Given the description of an element on the screen output the (x, y) to click on. 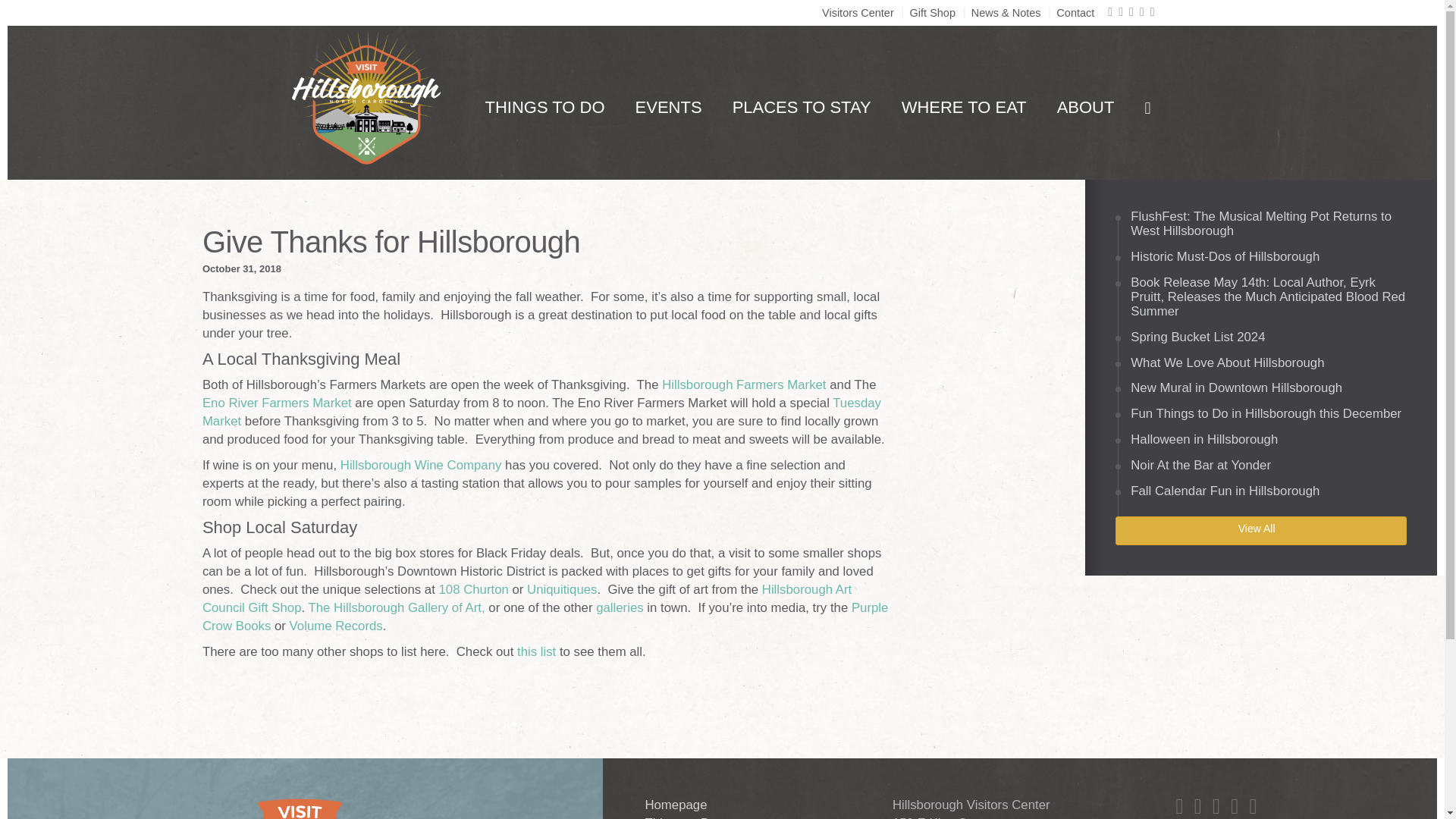
WHERE TO EAT (964, 107)
THINGS TO DO (545, 107)
Contact (1075, 12)
PLACES TO STAY (801, 107)
Gift Shop (932, 12)
EVENTS (668, 107)
Visitors Center (857, 12)
